Given the description of an element on the screen output the (x, y) to click on. 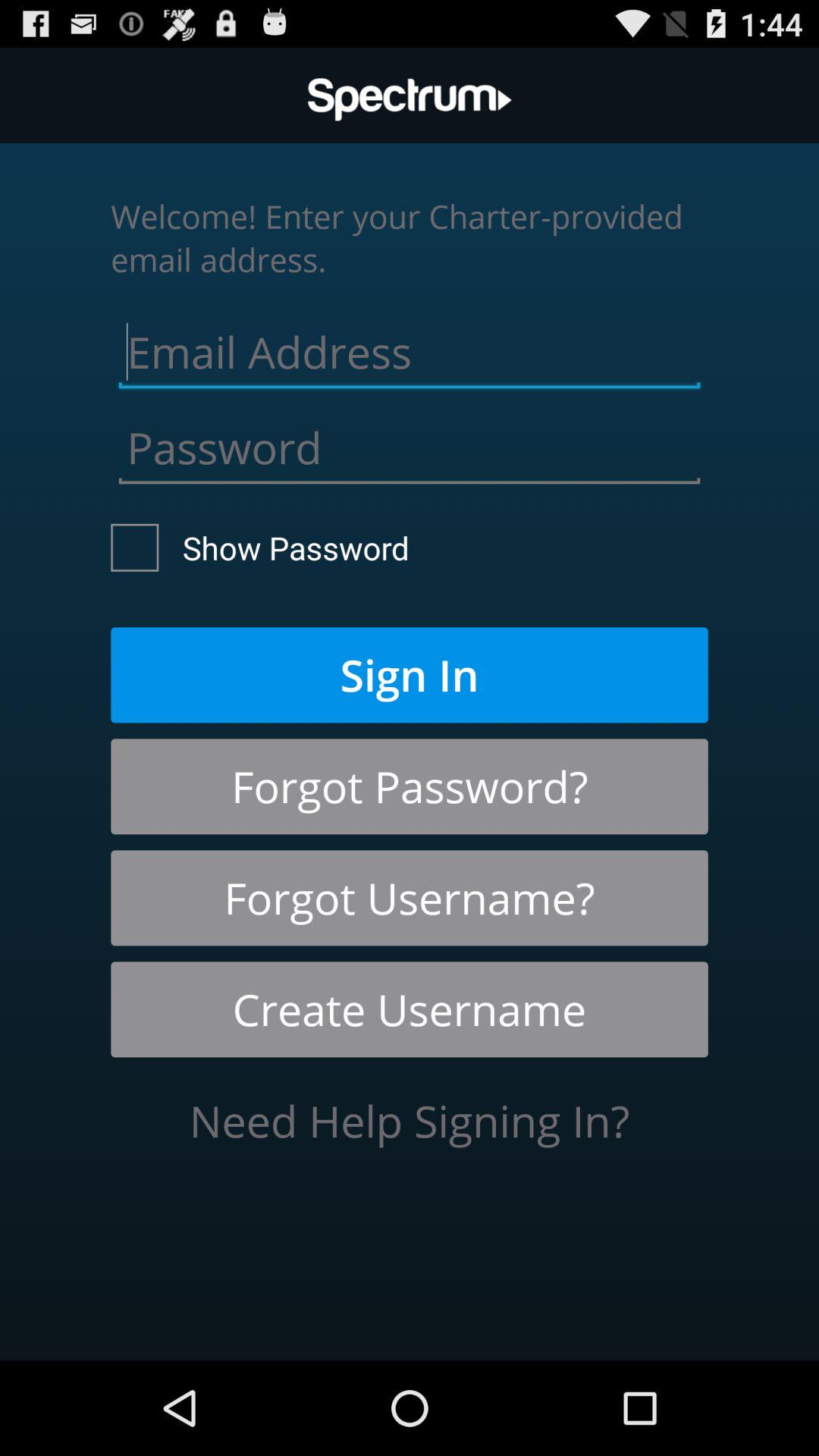
flip until the need help signing (409, 1120)
